Given the description of an element on the screen output the (x, y) to click on. 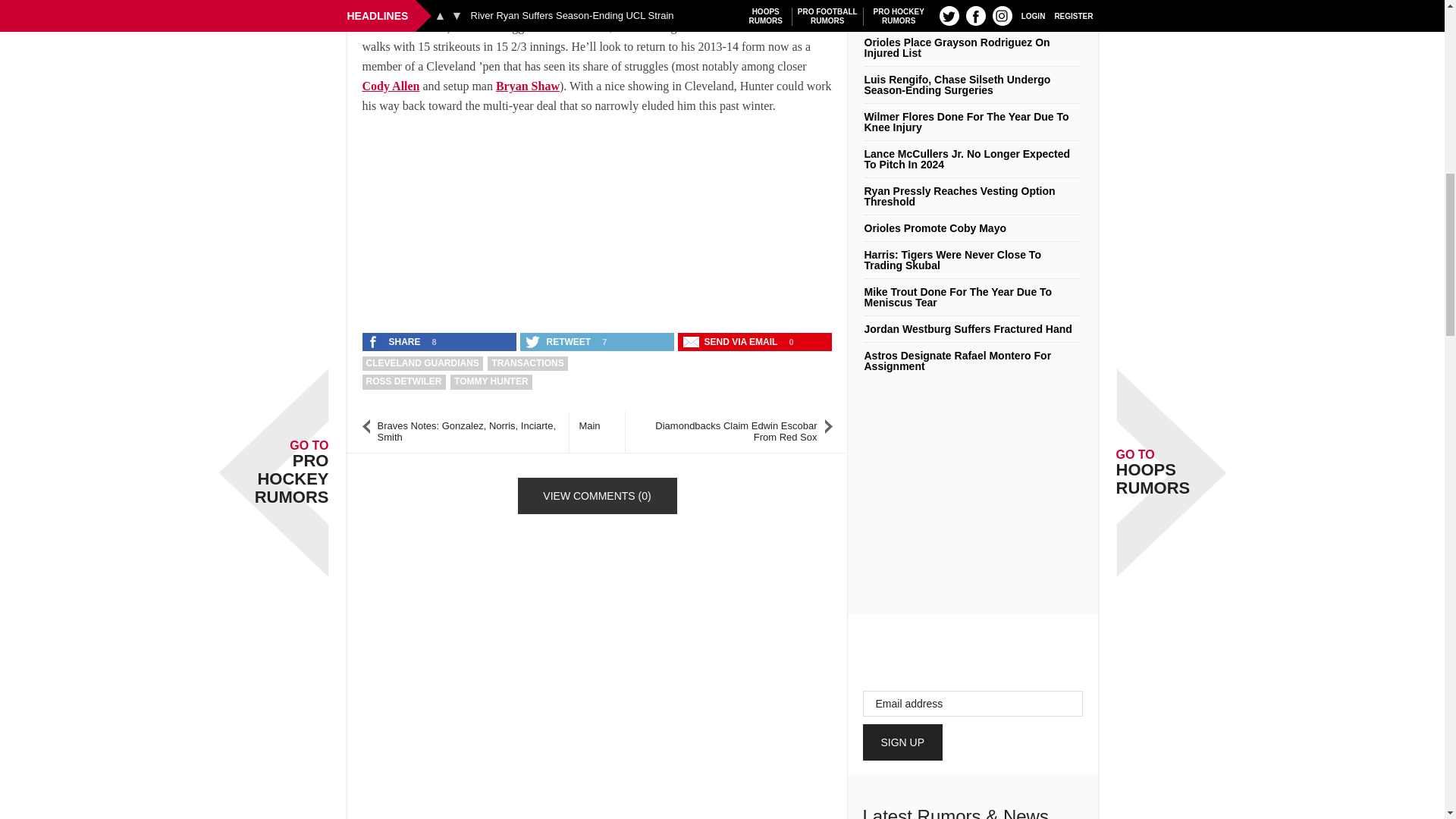
Sign Up (903, 741)
